Given the description of an element on the screen output the (x, y) to click on. 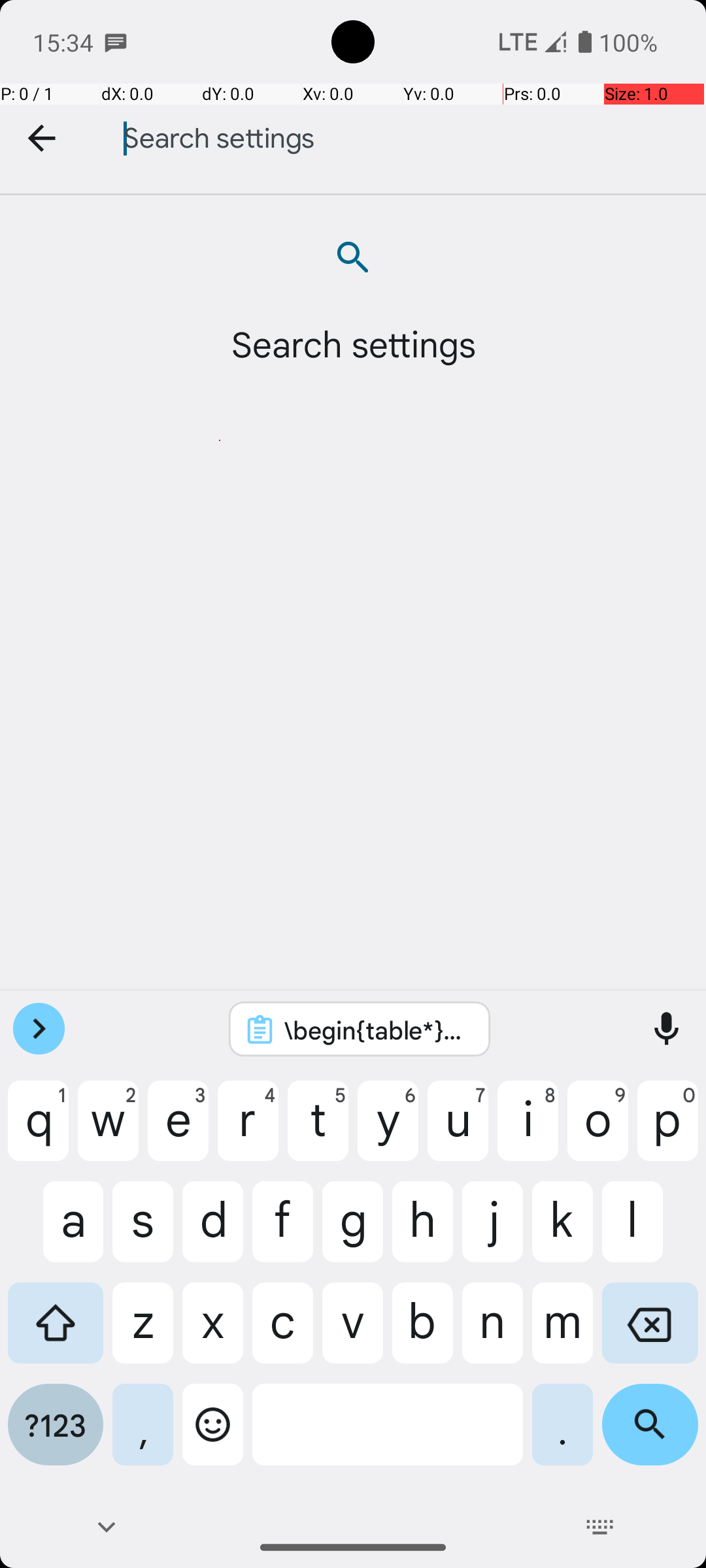
\begin{table*}[t!] \centering \renewcommand\arraystretch{1.1} \tabcolsep=0.05cm {\fontsize{10pt}{12pt}\selectfont \begin{tabular}{cccccccccc} \hline % \toprule          \multirow{2}{*}{LVLMs} & \multirow{2}{*}{\parbox{1.5cm}{\centering Model\\Size}}   & \multirow{2}{*}{\parbox{1.5cm}{\centering GUI\\Specific}} & \multicolumn{2}{c}{Mobile}        & \multicolumn{2}{c}{Desktop}       & \multicolumn{2}{c}{Web}           & \multirow{2}{*}{Average} \\ \cline{4-9}          &    &                               & Text            & Icon/Widget     & Text            & Icon/Widget     & Text            & Icon/Widget     &                          \\  % \midrule \hline MiniGPT-v2     & 7B   & \textcolor{darkred}{\ding{55}}                              &  8.4\%               & 6.6\%                & 6.2\%                & 2.9\%                & 6.5\%                & 3.4\%                & 5.7\%                         \\ Qwen-VL  & 9.6B   & \textcolor{darkred}{\ding{55}}                             & 9.5\%           & 4.8\%           & 5.7\%           & 5.0\%           & 3.5\%           & 2.4\%           & 5.2\%                    \\  GPT-4V   & -    & \textcolor{darkred}{\ding{55}}     & 22.6\%    & 24.5\%    & 20.2\%    & 11.8\%    &9.2\%  & 8.8\%     & 16.2\% \\ \hline Fuyu     & 8B   & \textcolor{darkgreen}{\ding{51}}                               & 41.0\%          & 1.3\%           & 33.0\%          & 3.6\%           & 33.9\%          & 4.4\%           & 19.5\%                   \\ CogAgent & 18B   & \textcolor{darkgreen}{\ding{51}}                               & 67.0\%          & 24.0\%          & \textbf{74.2\%} & 20.0\%          & \textbf{70.4\%} & 28.6\% & 47.4\%                   \\ \seek & 9.6B   & \textcolor{darkgreen}{\ding{51}}                              & \textbf{78.0\%} & \textbf{52.0\%} & 72.2\%          & \textbf{30.0\%} & 55.7\%          & \textbf{32.5\%} & \textbf{53.4\%}          \\  \hline % \bottomrule \end{tabular} } \caption{Results of different LVLMs on \seesp. The best results in each column are highlighted in \textbf{bold}. Benefiting from efficient GUI grounding pre-training, \seek significantly enhanced LVLMs' ability to locate GUI elements following instructions, and surpassed the strong baseline CogAgent with a smaller model size.} \label{tab:screenspot} \vspace{-1.0em} \end{table*} Element type: android.widget.TextView (376, 1029)
